Given the description of an element on the screen output the (x, y) to click on. 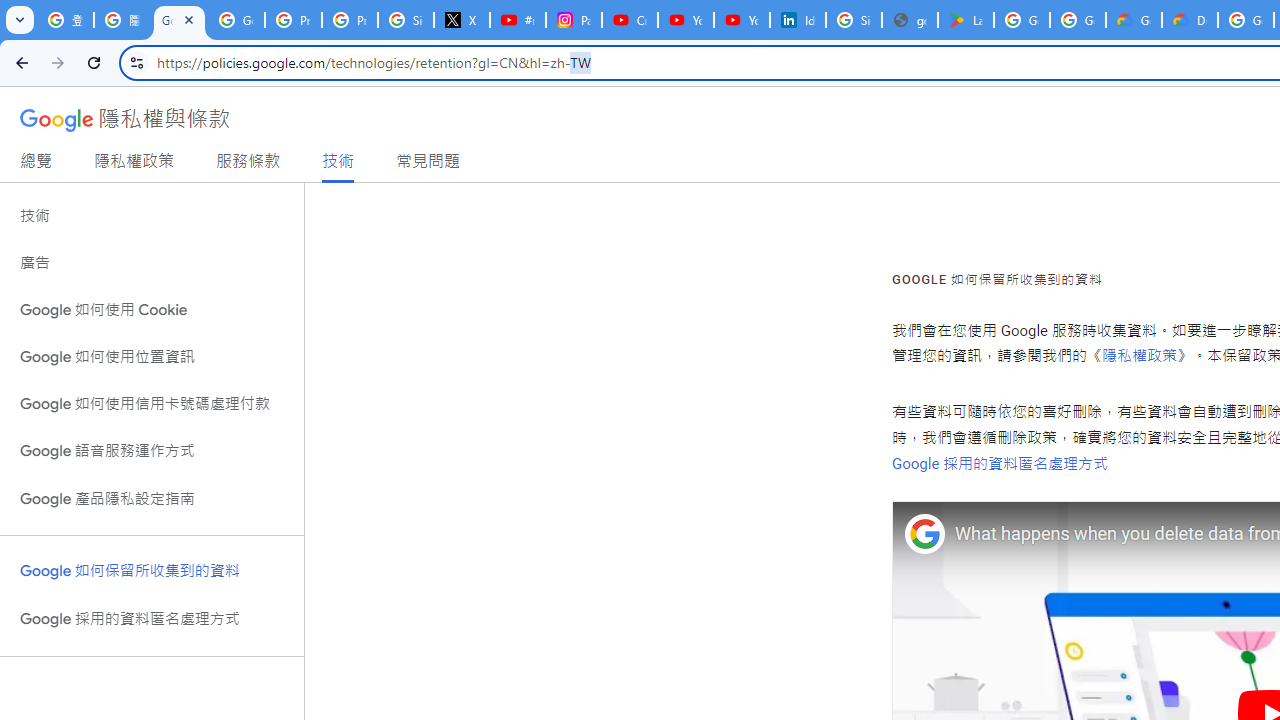
Back (19, 62)
YouTube Culture & Trends - YouTube Top 10, 2021 (742, 20)
#nbabasketballhighlights - YouTube (518, 20)
Privacy Help Center - Policies Help (349, 20)
